Given the description of an element on the screen output the (x, y) to click on. 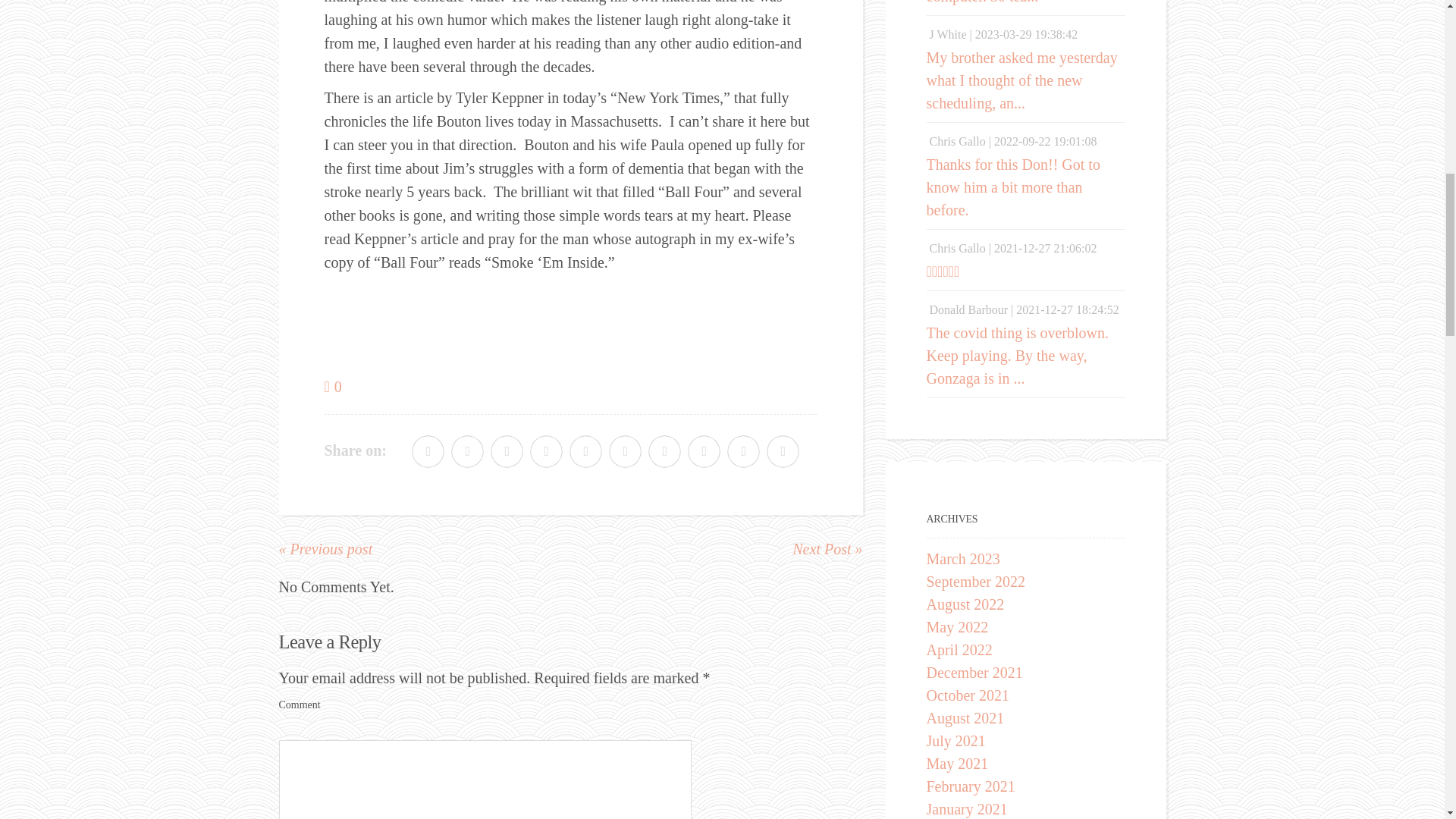
September 2022 (976, 581)
Like this (333, 386)
August 2022 (965, 604)
October 2021 (967, 695)
August 2021 (965, 718)
July 2021 (955, 740)
0 (333, 386)
